Given the description of an element on the screen output the (x, y) to click on. 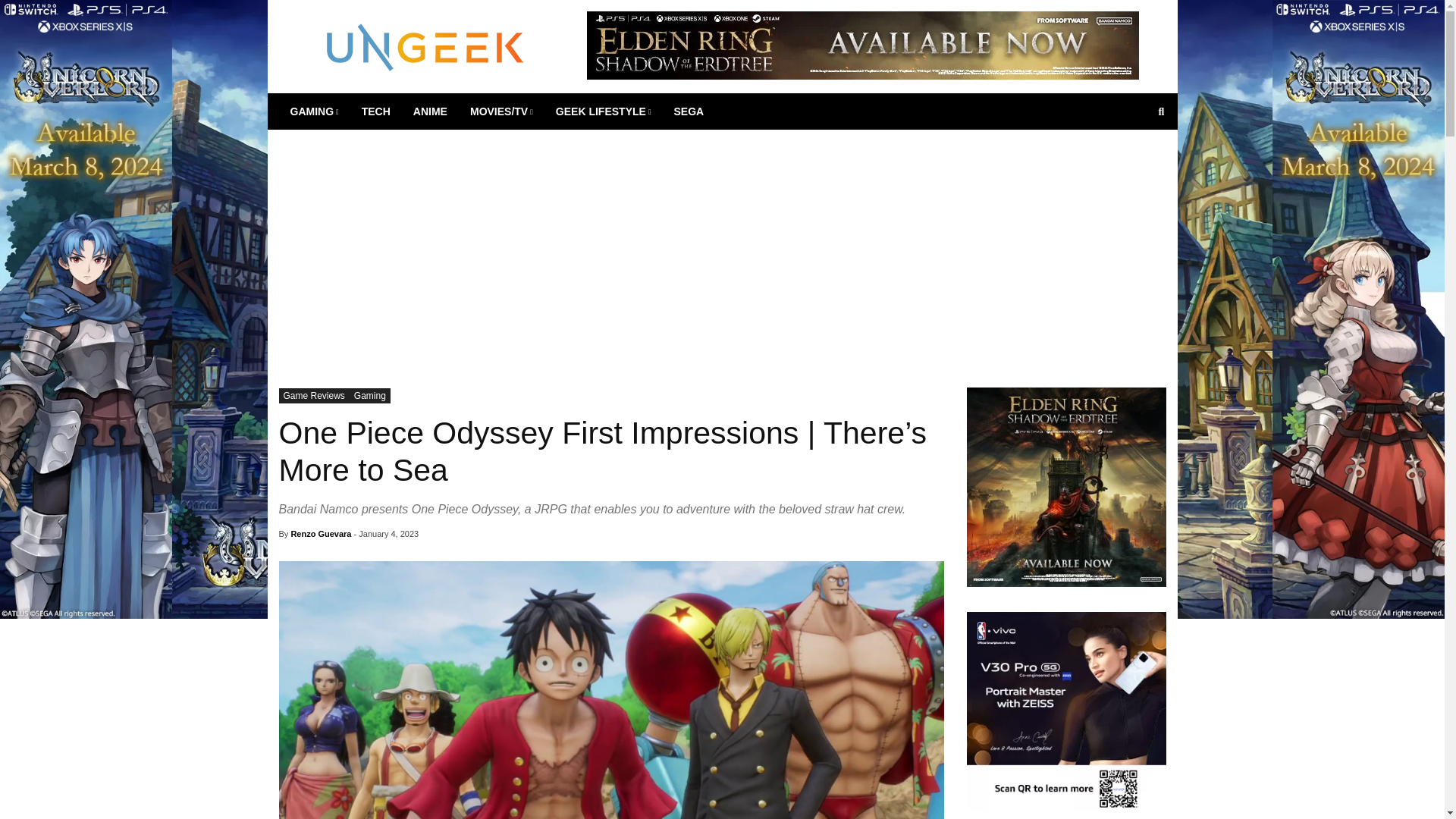
UnGeek (424, 46)
ANIME (429, 111)
GEEK LIFESTYLE (603, 111)
SEGA (689, 111)
Posts by Renzo Guevara (319, 533)
Game Reviews (314, 395)
Renzo Guevara (319, 533)
TECH (375, 111)
January 4, 2023 (388, 533)
GAMING (314, 111)
Gaming (369, 395)
UnGeek (425, 46)
